Given the description of an element on the screen output the (x, y) to click on. 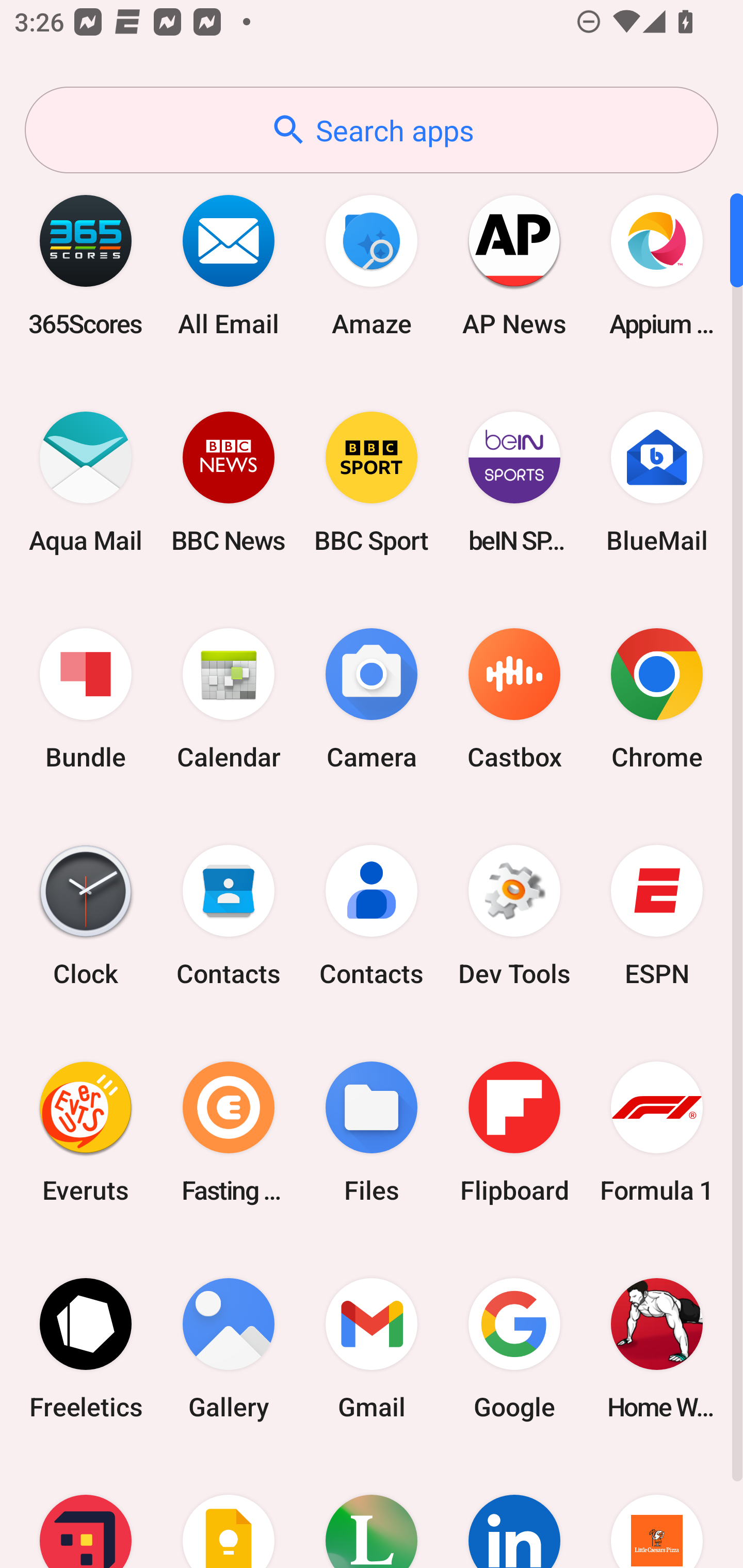
  Search apps (371, 130)
365Scores (85, 264)
All Email (228, 264)
Amaze (371, 264)
AP News (514, 264)
Appium Settings (656, 264)
Aqua Mail (85, 482)
BBC News (228, 482)
BBC Sport (371, 482)
beIN SPORTS (514, 482)
BlueMail (656, 482)
Bundle (85, 699)
Calendar (228, 699)
Camera (371, 699)
Castbox (514, 699)
Chrome (656, 699)
Clock (85, 915)
Contacts (228, 915)
Contacts (371, 915)
Dev Tools (514, 915)
ESPN (656, 915)
Everuts (85, 1131)
Fasting Coach (228, 1131)
Files (371, 1131)
Flipboard (514, 1131)
Formula 1 (656, 1131)
Freeletics (85, 1348)
Gallery (228, 1348)
Gmail (371, 1348)
Google (514, 1348)
Home Workout (656, 1348)
Hotels.com (85, 1512)
Keep Notes (228, 1512)
Lifesum (371, 1512)
LinkedIn (514, 1512)
Little Caesars Pizza (656, 1512)
